Given the description of an element on the screen output the (x, y) to click on. 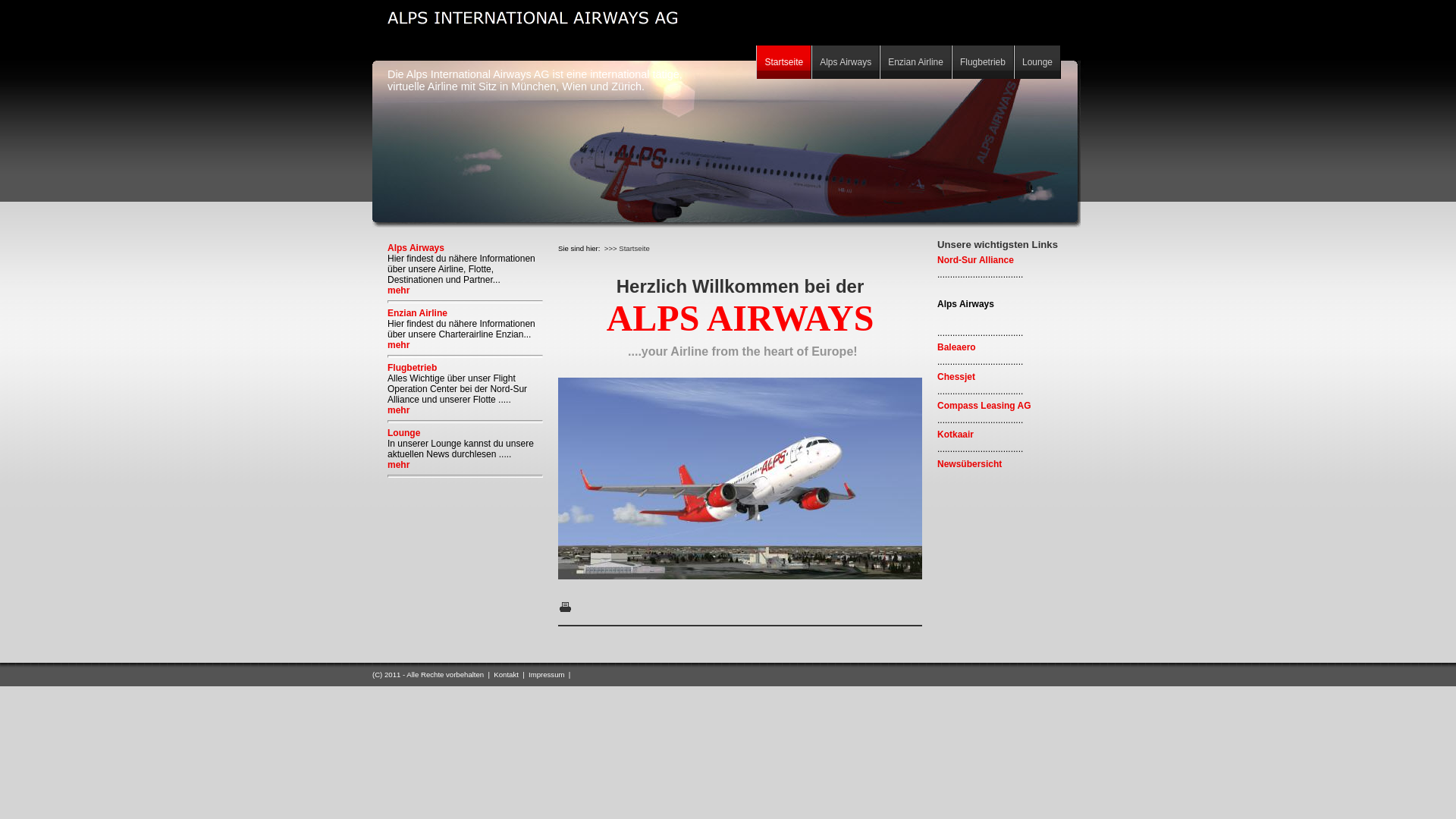
mehr Element type: text (398, 464)
Lounge Element type: text (1036, 61)
Startseite Element type: text (783, 61)
Alps Airways Element type: text (415, 247)
Kotkaair Element type: text (955, 434)
Baleaero Element type: text (956, 347)
mehr Element type: text (398, 290)
Enzian Airline Element type: text (417, 312)
Flugbetrieb Element type: text (982, 61)
Kontakt Element type: text (505, 674)
Lounge Element type: text (403, 432)
Enzian Airline Element type: text (915, 61)
Chessjet Element type: text (956, 376)
Compass Leasing AG Element type: text (984, 405)
Impressum Element type: text (546, 674)
Nord-Sur Alliance Element type: text (975, 259)
Alps Airways Element type: text (845, 61)
>>> Startseite Element type: text (626, 248)
Flugbetrieb Element type: text (411, 367)
mehr Element type: text (398, 344)
mehr Element type: text (398, 409)
